Given the description of an element on the screen output the (x, y) to click on. 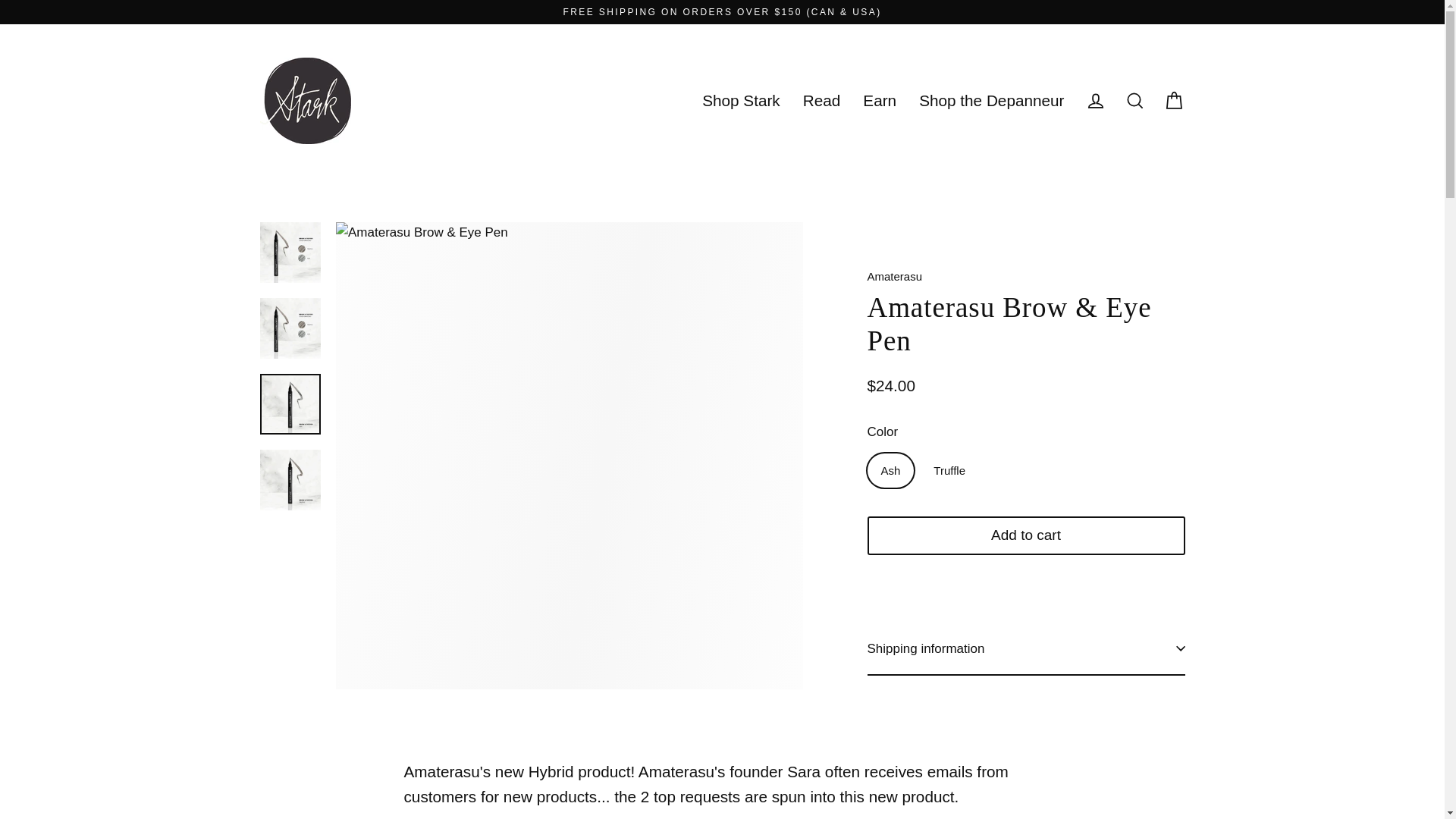
Shop the Depanneur (991, 99)
Amaterasu (895, 276)
Read (821, 99)
Shop Stark (741, 99)
Log in (1095, 100)
Search (1134, 100)
Cart (1173, 100)
Earn (879, 99)
